Given the description of an element on the screen output the (x, y) to click on. 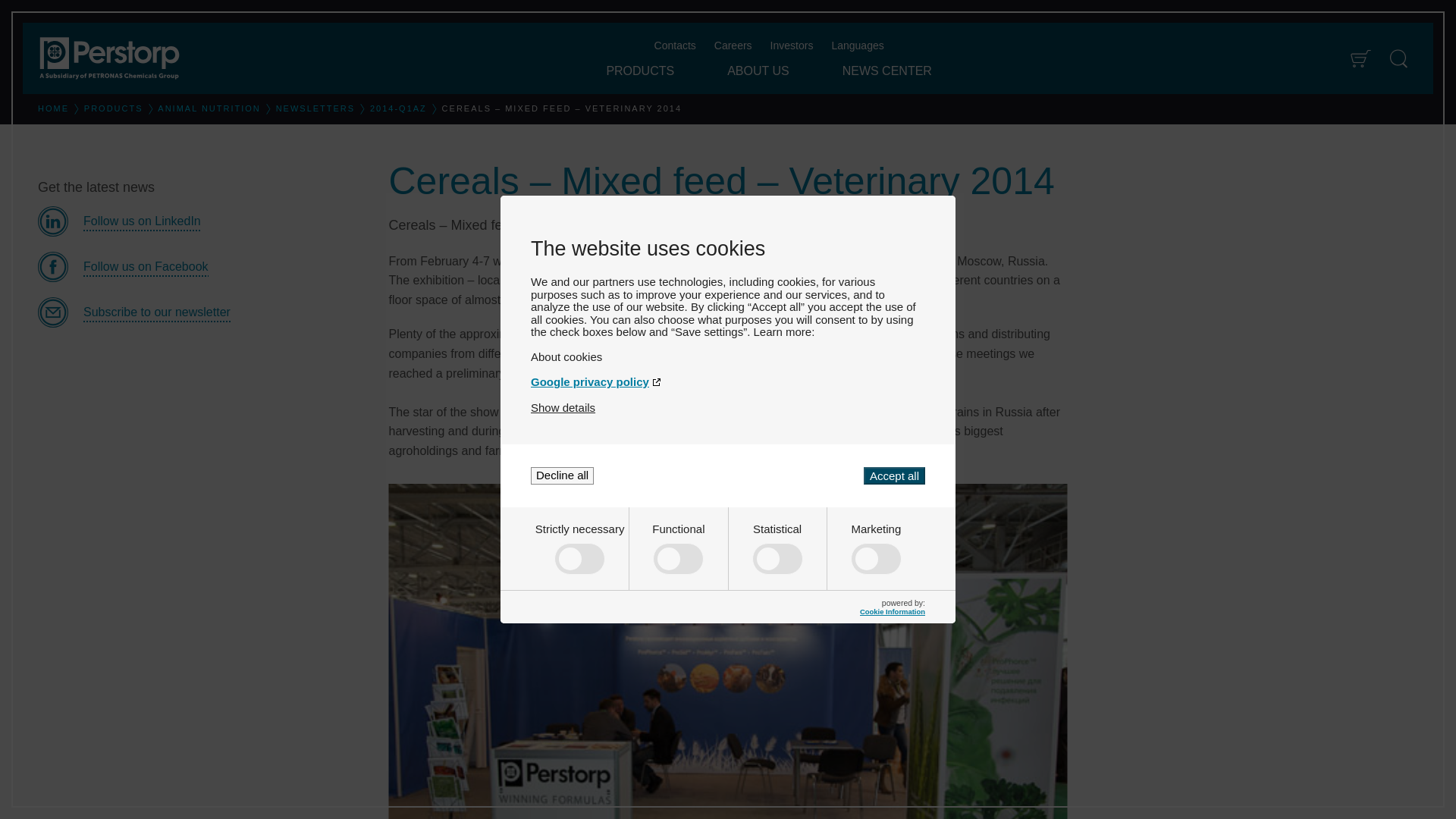
Show details (563, 407)
About cookies (727, 356)
Google privacy policy (727, 381)
LinkedIn (201, 221)
Accept all (893, 475)
Facebook (201, 266)
Cookie Information (892, 611)
Decline all (562, 475)
